Given the description of an element on the screen output the (x, y) to click on. 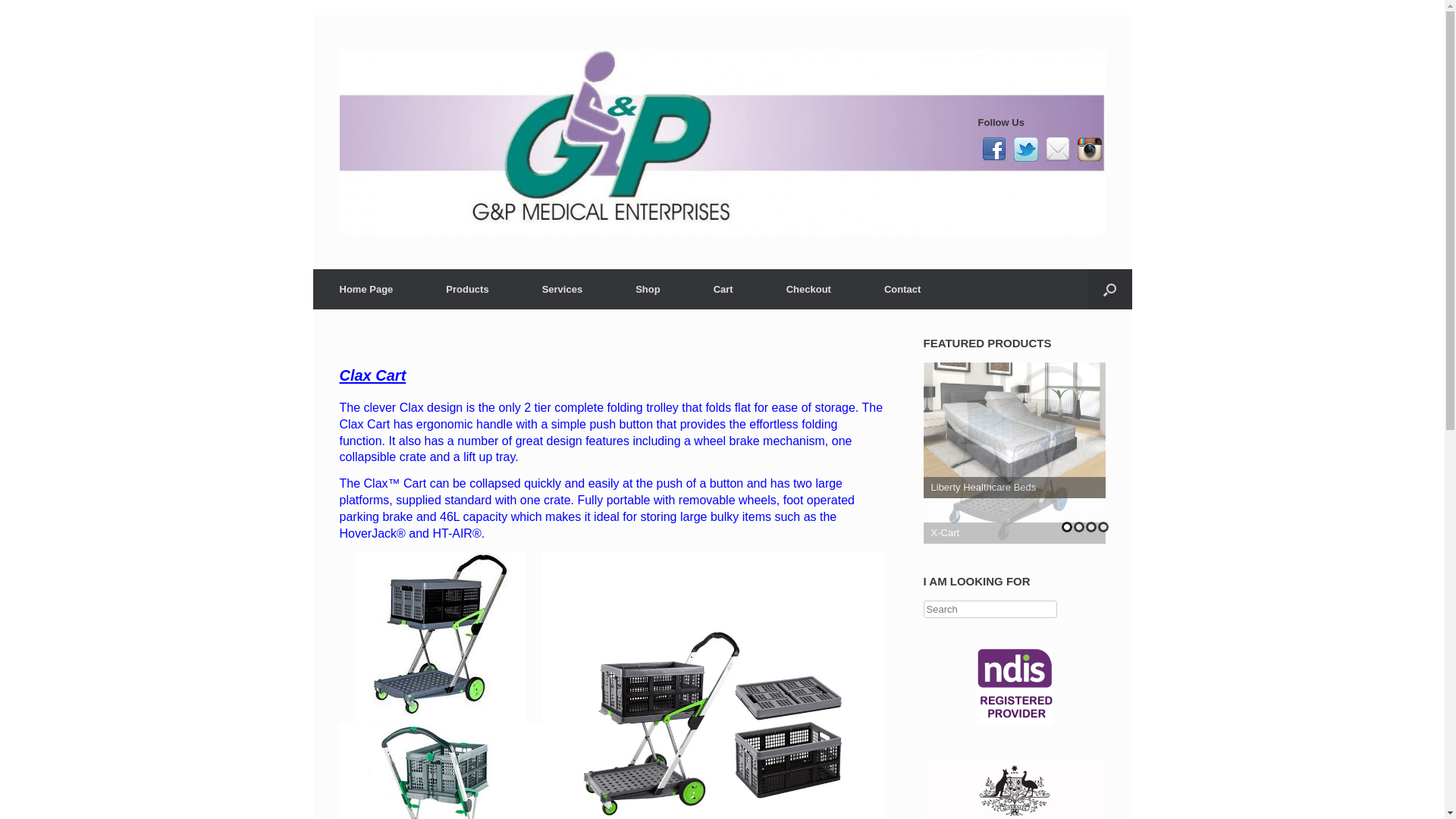
3 Element type: text (1090, 526)
Cart Element type: text (723, 289)
Checkout Element type: text (808, 289)
Home Page Element type: text (365, 289)
Shop Element type: text (647, 289)
gp medical Element type: hover (722, 142)
Contact Element type: text (902, 289)
1 Element type: text (1066, 526)
Services Element type: text (562, 289)
Products Element type: text (466, 289)
2 Element type: text (1078, 526)
4 Element type: text (1103, 526)
